Given the description of an element on the screen output the (x, y) to click on. 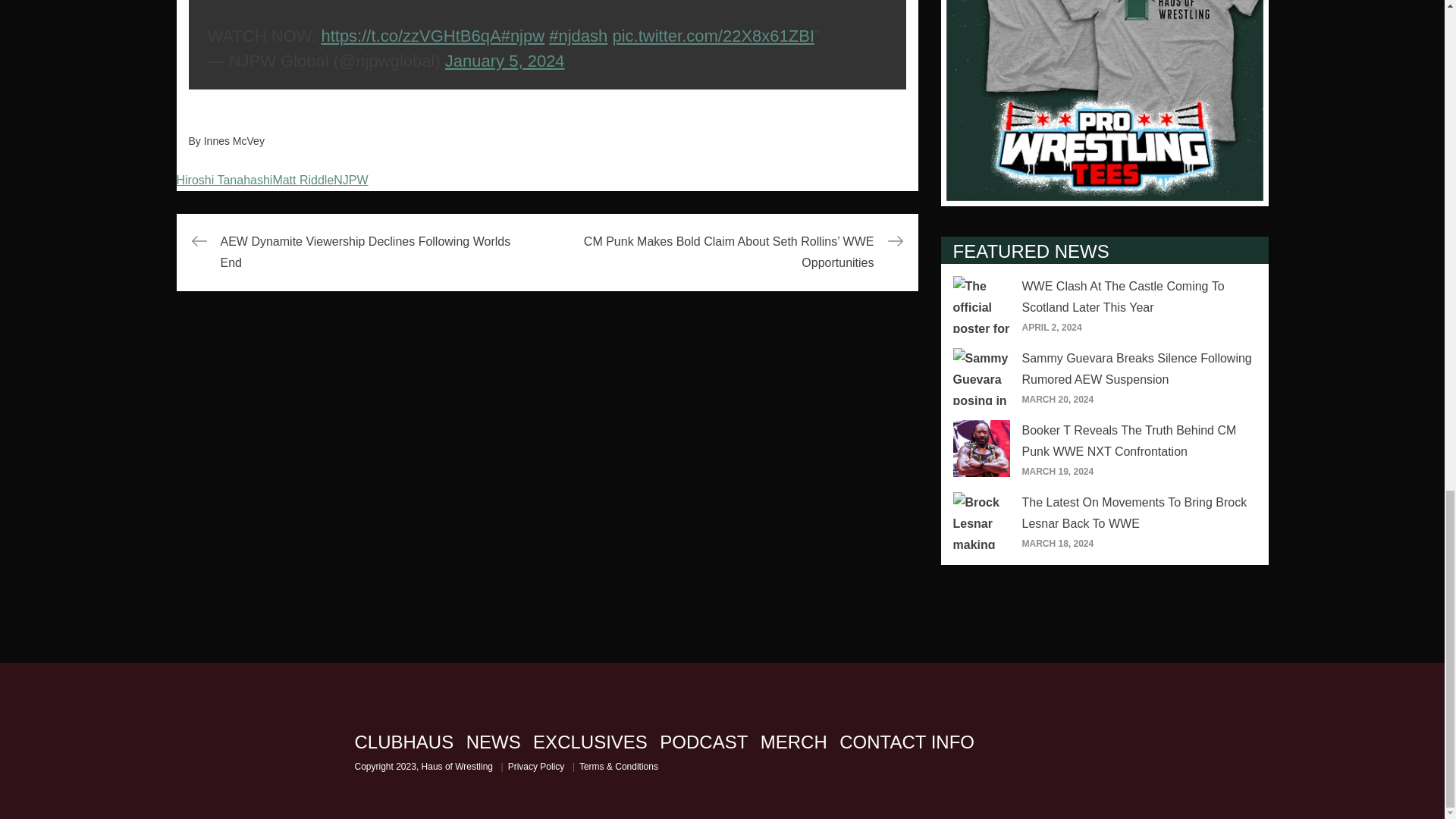
January 5, 2024 (504, 60)
Matt Riddle (302, 179)
Innes McVey (233, 141)
Hiroshi Tanahashi (224, 179)
NJPW (350, 179)
WWE Clash At The Castle Coming To Scotland Later This Year (1123, 296)
